Given the description of an element on the screen output the (x, y) to click on. 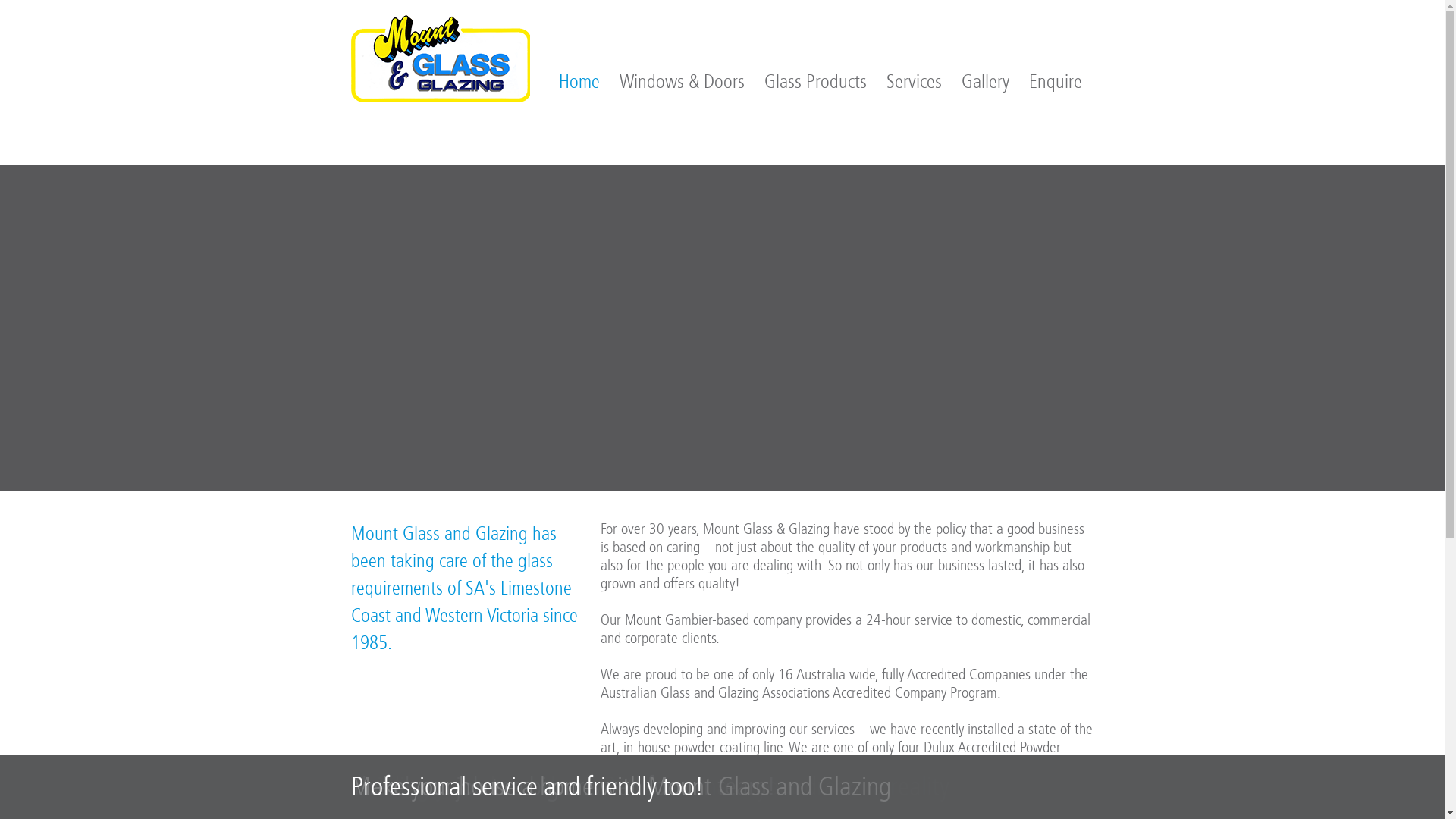
Gallery Element type: text (985, 81)
Services Element type: text (913, 81)
Enquire Element type: text (1054, 81)
Glass Products Element type: text (815, 81)
Mount Glass & Glazing Element type: text (439, 58)
Windows & Doors Element type: text (680, 81)
Home Element type: text (578, 81)
